Given the description of an element on the screen output the (x, y) to click on. 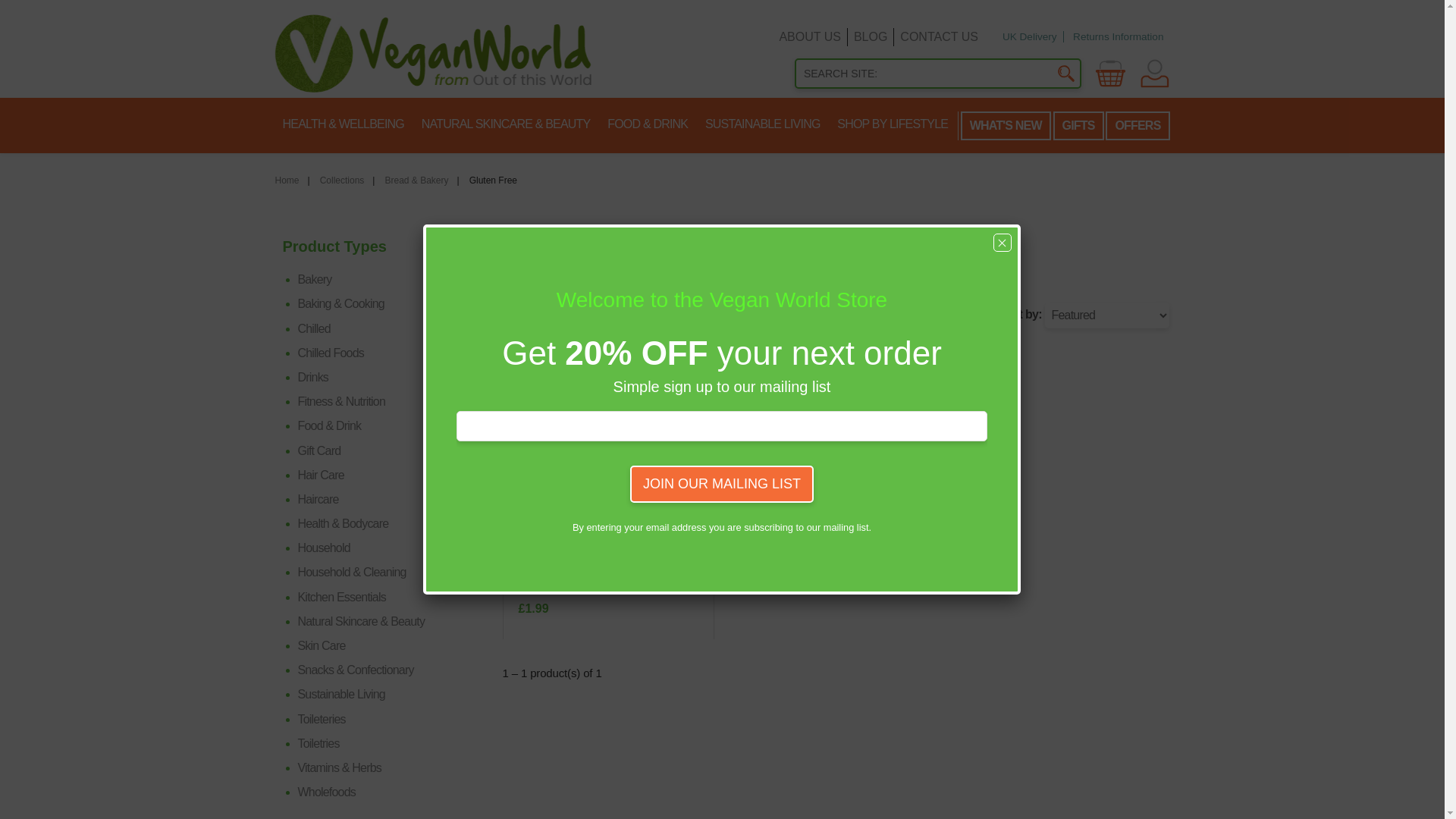
UK Delivery (1029, 36)
BLOG (869, 36)
CONTACT US (938, 36)
Returns Information (1118, 36)
ABOUT US (809, 36)
